Given the description of an element on the screen output the (x, y) to click on. 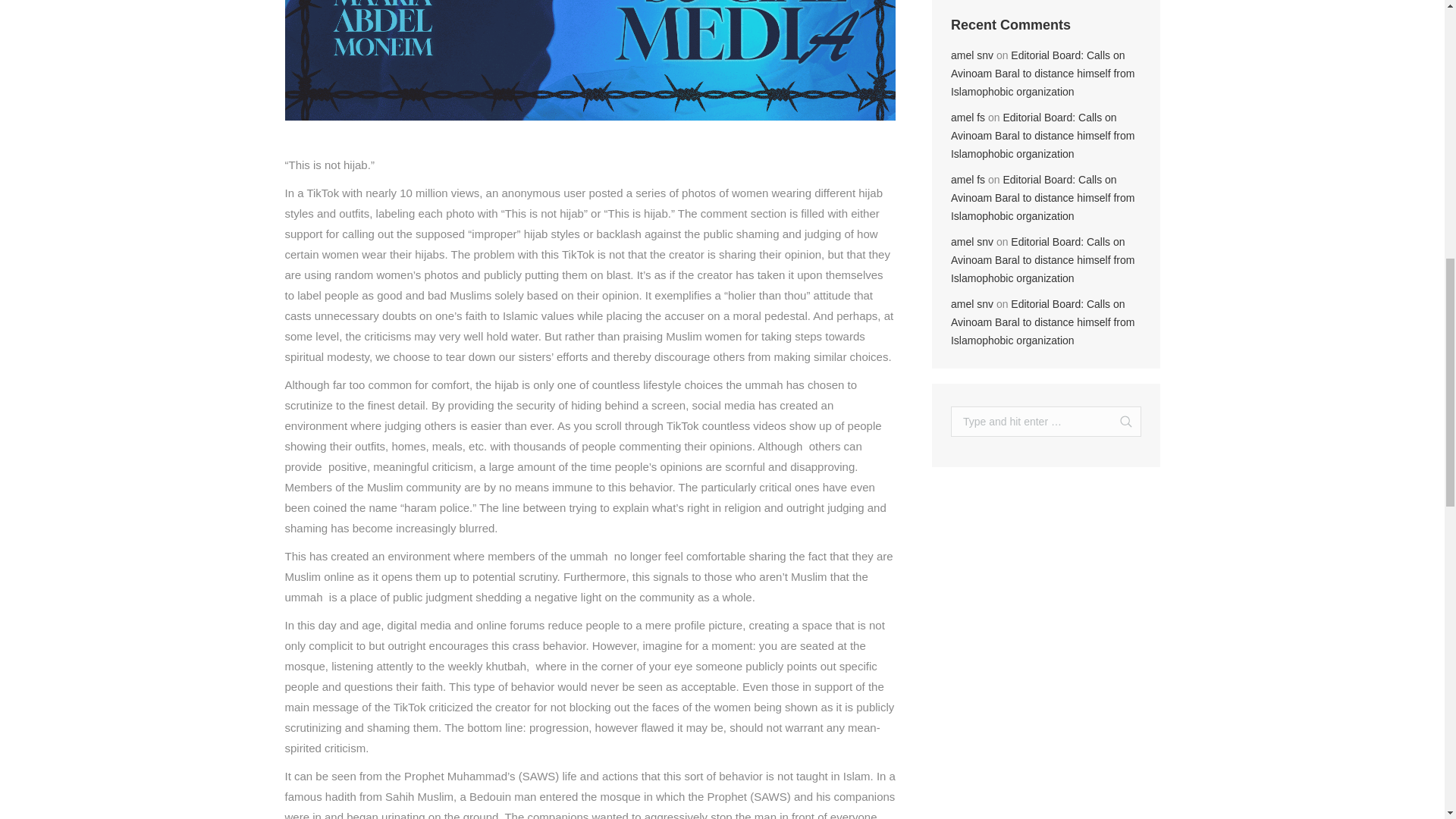
Go! (1119, 421)
Go! (1119, 421)
